Given the description of an element on the screen output the (x, y) to click on. 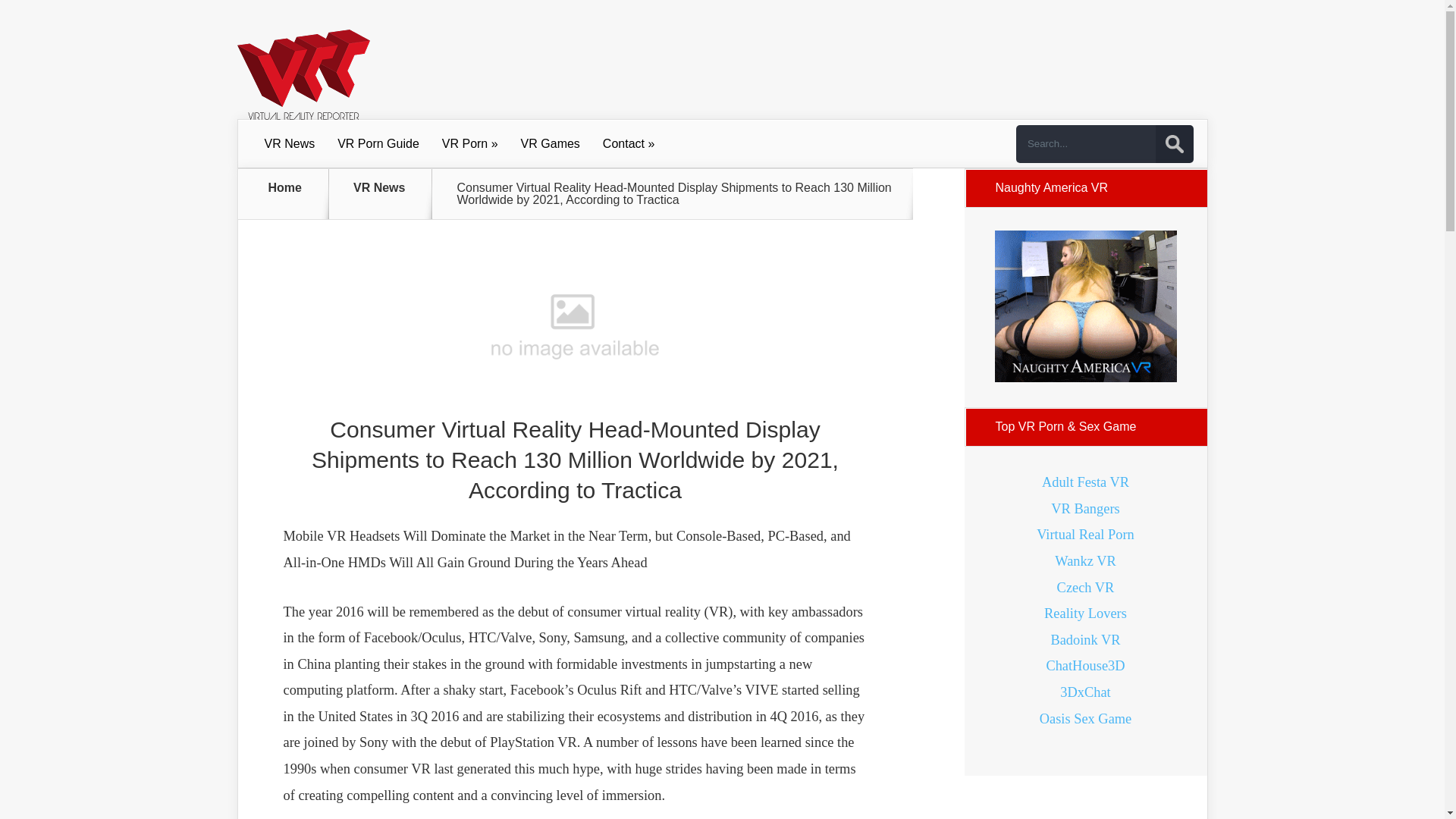
VR Games (550, 143)
Adult Festa VR (1085, 482)
VR News (388, 193)
Wankz VR (1084, 560)
VR Porn Guide (378, 143)
Contact (628, 143)
VR News (289, 143)
VR Bangers (1085, 508)
Home (285, 193)
Virtual Real Porn (1085, 534)
